Given the description of an element on the screen output the (x, y) to click on. 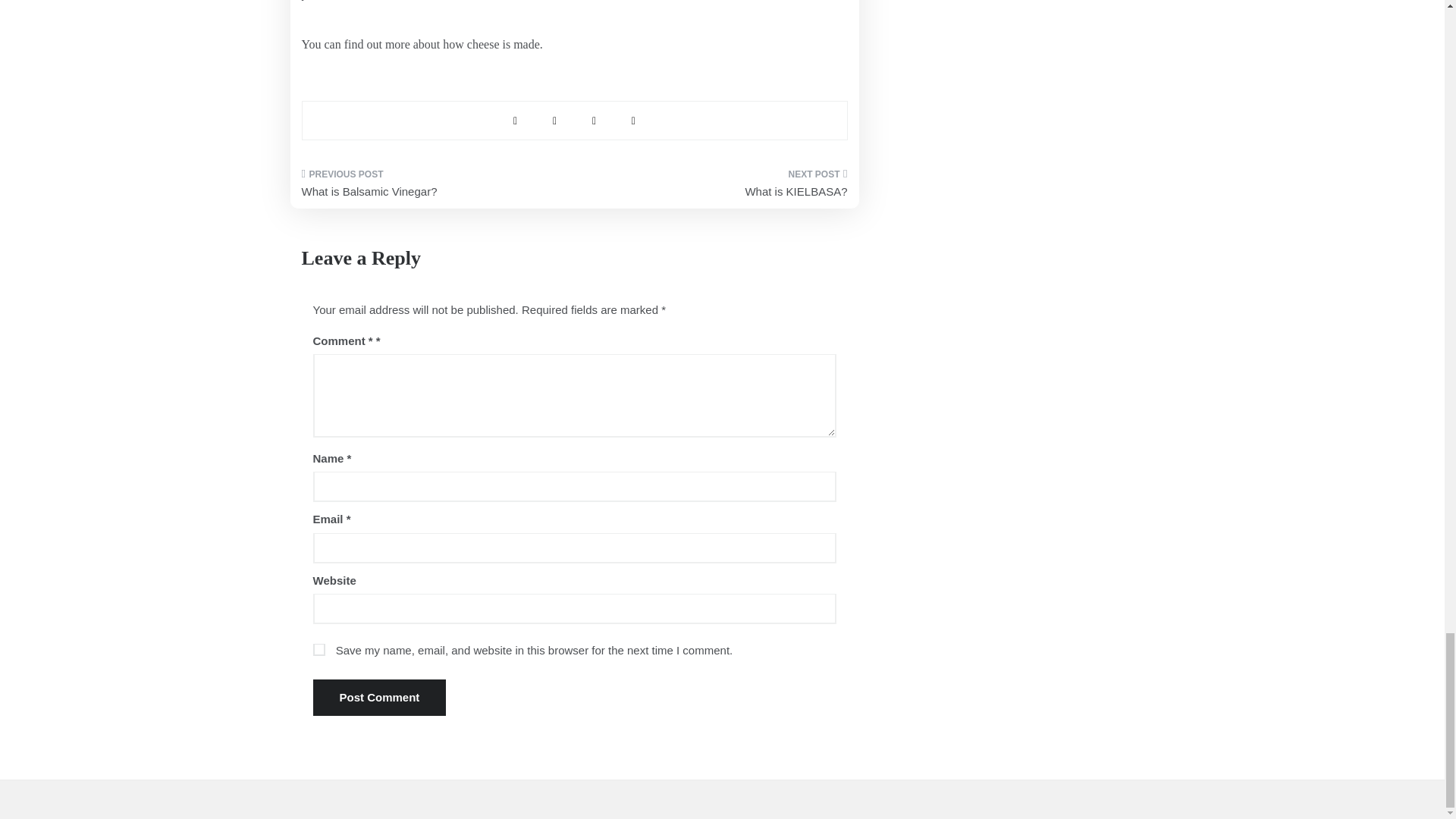
Post Comment (379, 697)
What is Balsamic Vinegar? (432, 188)
yes (318, 649)
What is KIELBASA? (716, 188)
Post Comment (379, 697)
